Given the description of an element on the screen output the (x, y) to click on. 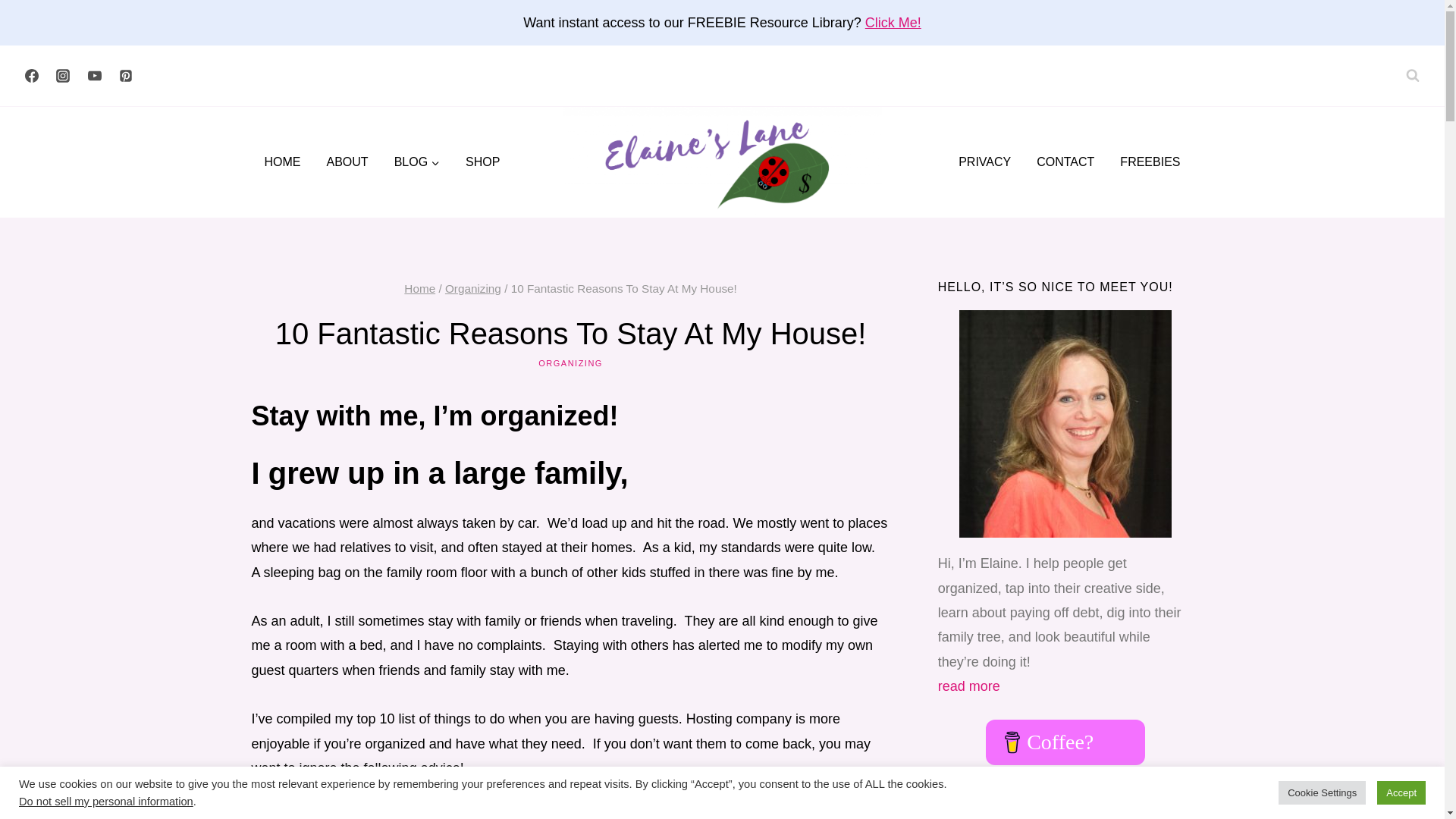
here (498, 814)
ABOUT (347, 162)
ORGANIZING (570, 362)
Home (419, 287)
Organizing (472, 287)
CONTACT (1064, 162)
FREEBIES (1149, 162)
BLOG (416, 162)
Click Me! (892, 22)
SHOP (482, 162)
PRIVACY (983, 162)
HOME (282, 162)
